Given the description of an element on the screen output the (x, y) to click on. 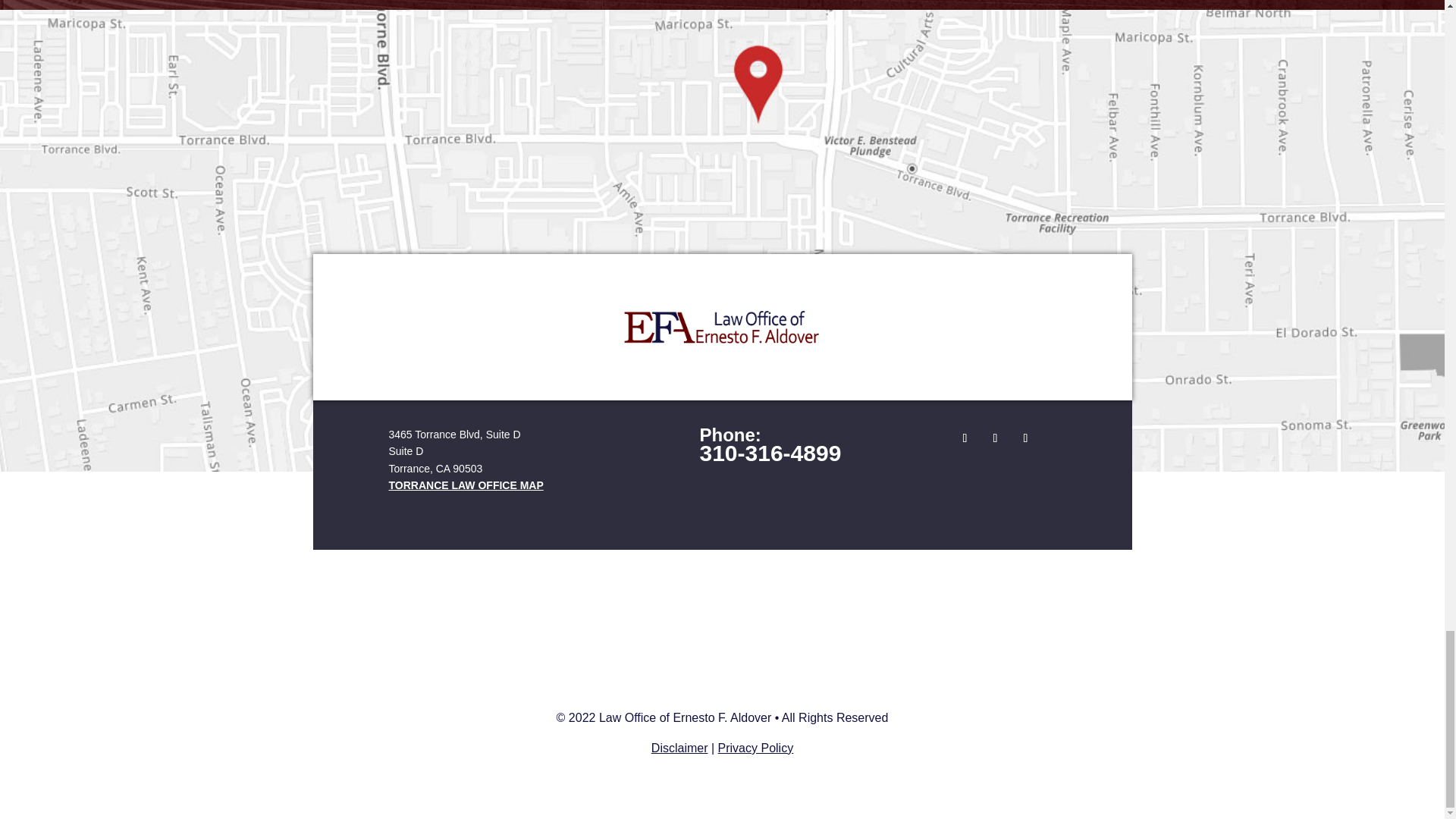
Follow on Facebook (964, 437)
Follow on X (994, 437)
Law-Office-of-Ernesto-F-Aldover (722, 327)
Follow on LinkedIn (1024, 437)
